Given the description of an element on the screen output the (x, y) to click on. 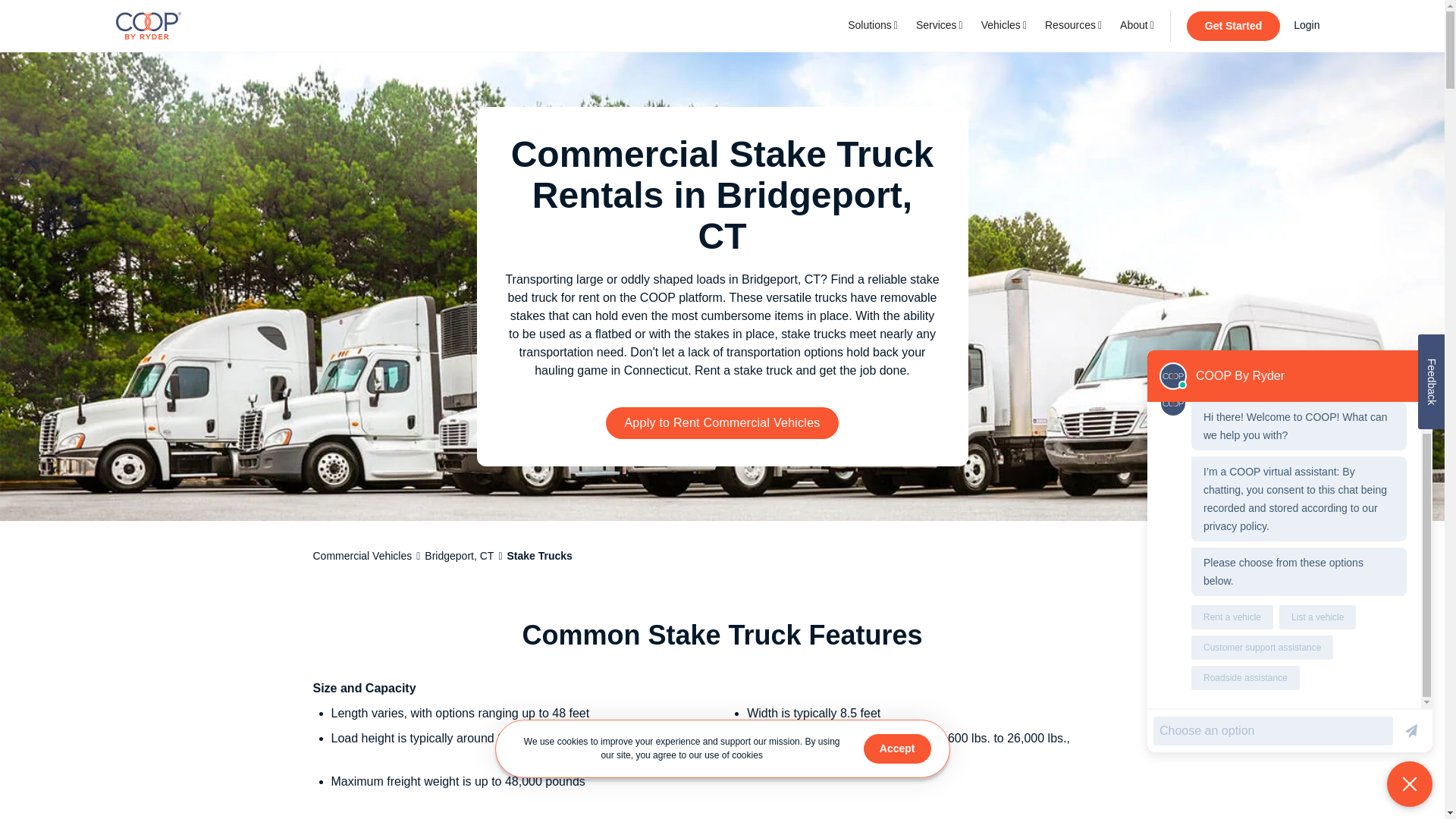
Get Started (1232, 25)
Commercial Vehicles (362, 555)
Bridgeport, CT (459, 555)
Apply to Rent Commercial Vehicles (721, 422)
